Given the description of an element on the screen output the (x, y) to click on. 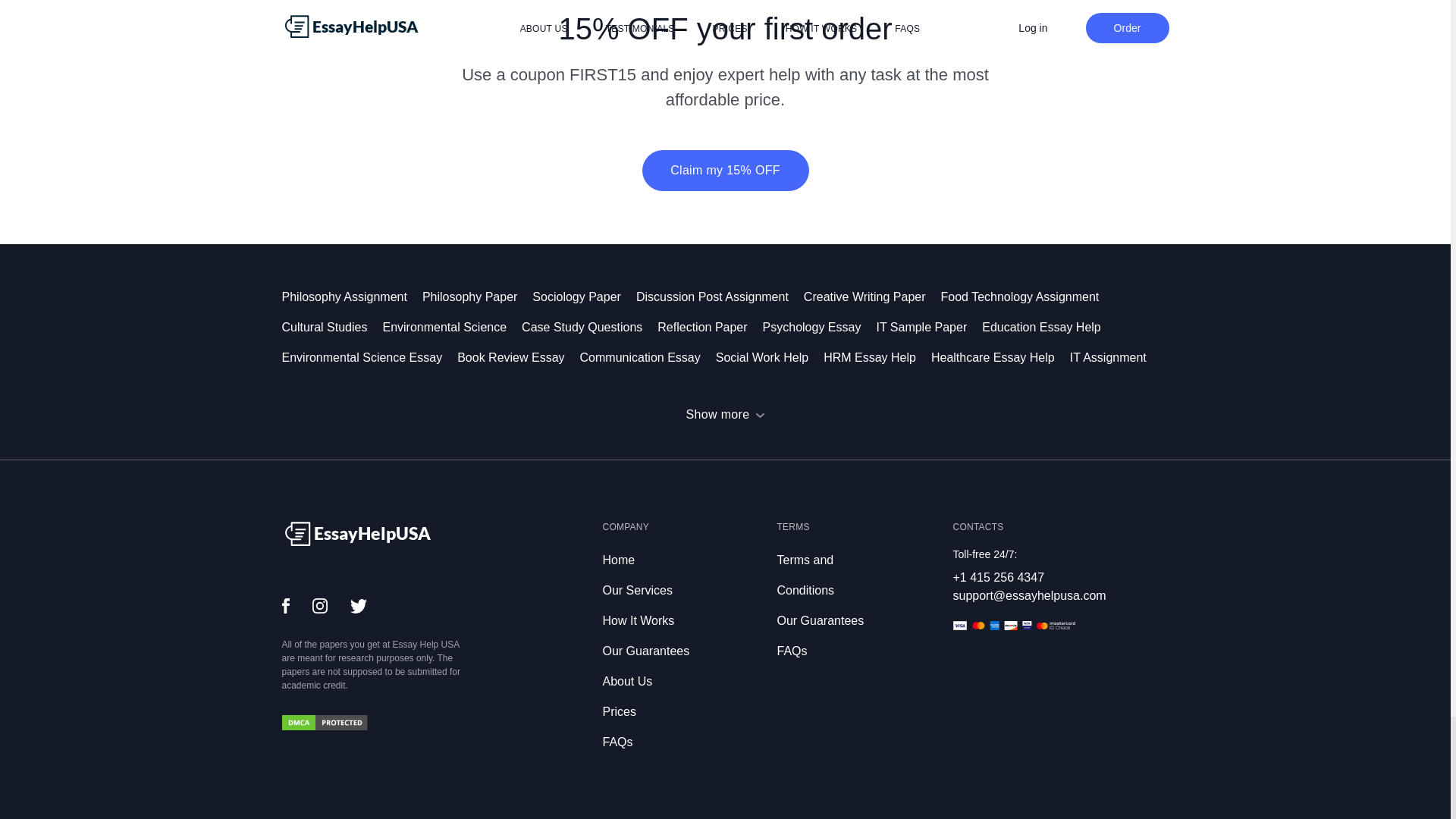
Sociology Paper (584, 296)
Case Study Questions (589, 327)
Cultural Studies (332, 327)
Food Technology Assignment (1027, 296)
Creative Writing Paper (871, 296)
Philosophy Paper (477, 296)
Discussion Post Assignment (719, 296)
Environmental Science (451, 327)
Reflection Paper (709, 327)
Philosophy Assignment (352, 296)
Psychology Essay (819, 327)
